Given the description of an element on the screen output the (x, y) to click on. 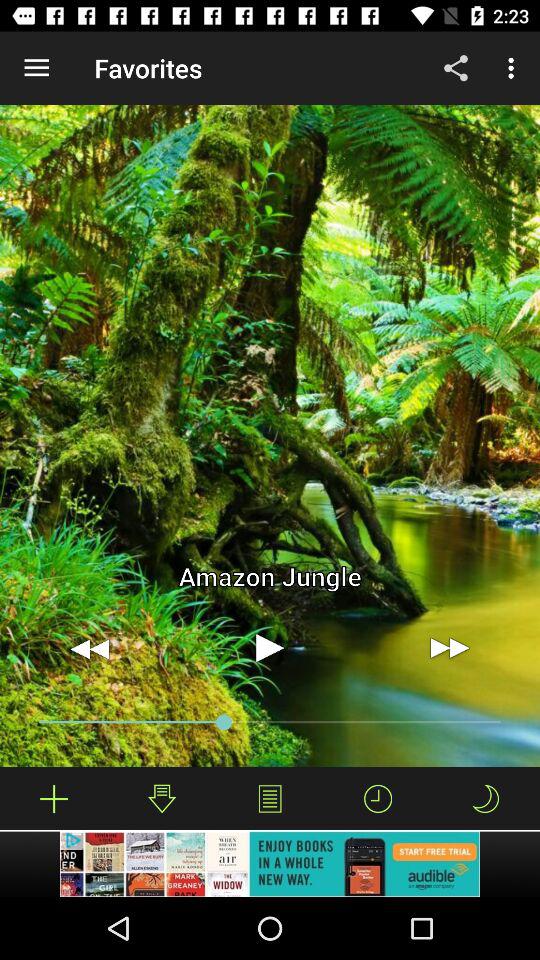
open the item next to the favorites app (36, 68)
